Given the description of an element on the screen output the (x, y) to click on. 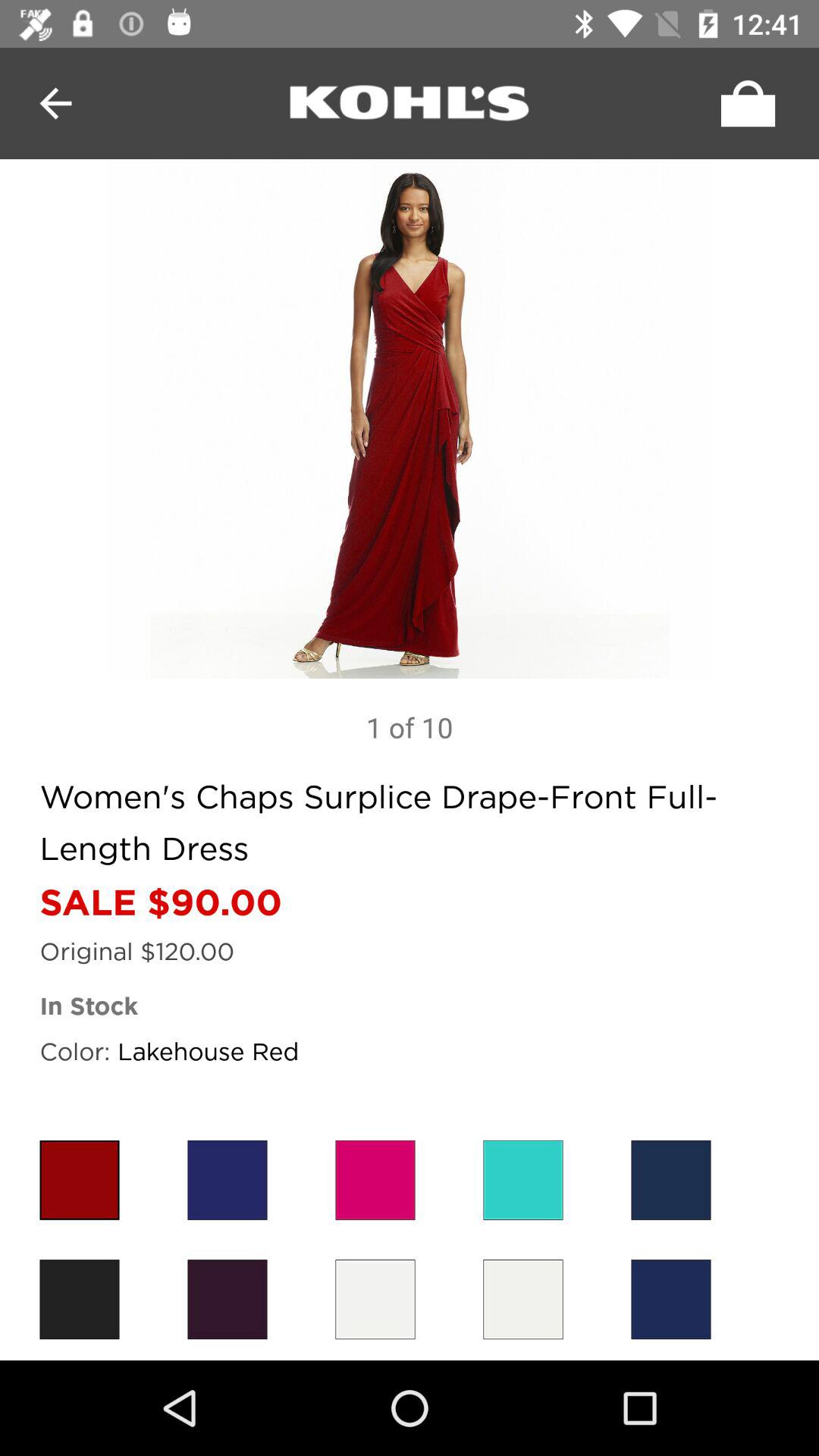
go do couler (523, 1179)
